Given the description of an element on the screen output the (x, y) to click on. 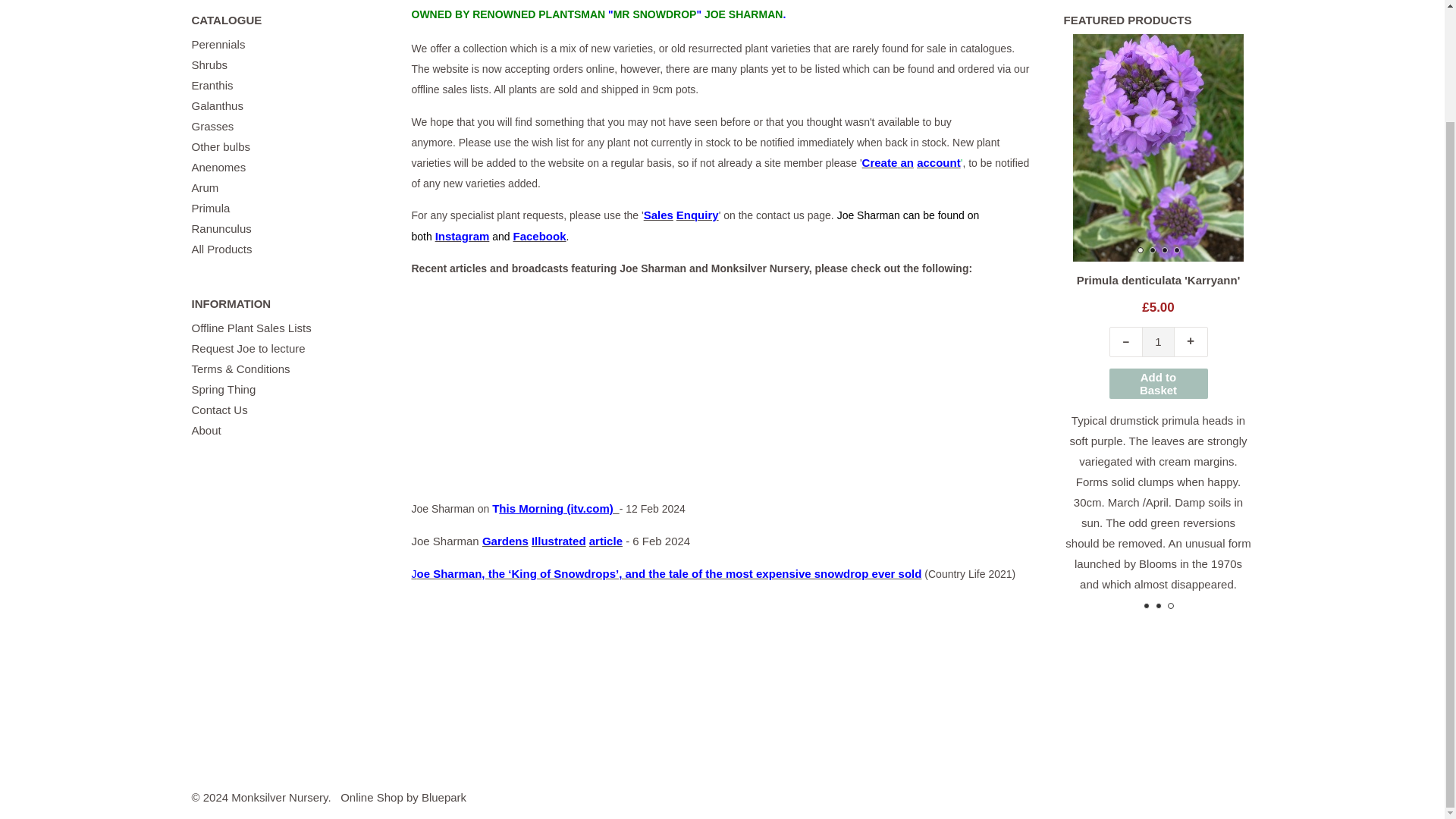
Other bulbs (220, 146)
Anenomes (218, 166)
Galanthus (216, 105)
Ranunculus (220, 228)
1 (1157, 341)
Primula (210, 207)
Arum (204, 187)
About (205, 430)
1 (1362, 341)
Contact Us (218, 409)
Create (879, 162)
Perennials (217, 43)
All Products (220, 248)
Grasses (211, 125)
Shrubs (208, 64)
